Given the description of an element on the screen output the (x, y) to click on. 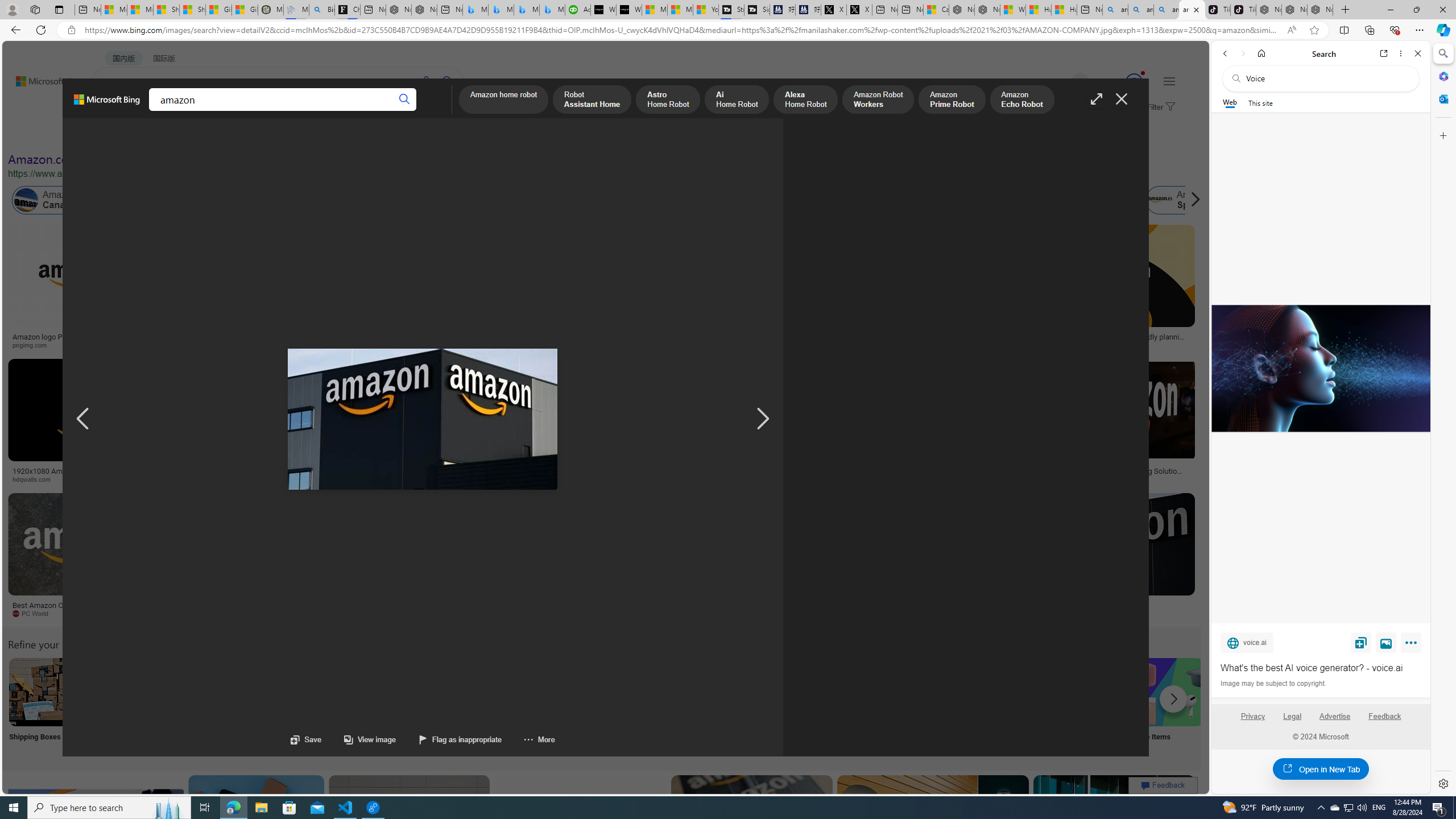
Amazon Prime Online (172, 199)
WEB (114, 111)
People (295, 135)
How Much Is Amazon's Net Worth? | GOBankingRates (275, 474)
Gilma and Hector both pose tropical trouble for Hawaii (244, 9)
Personal Profile (12, 9)
aiophotoz.com (347, 612)
amazon - Search (1140, 9)
ACADEMIC (311, 111)
Amazon Labor Law Violation in California (564, 200)
Amazon Jobs Near Me (342, 691)
